Given the description of an element on the screen output the (x, y) to click on. 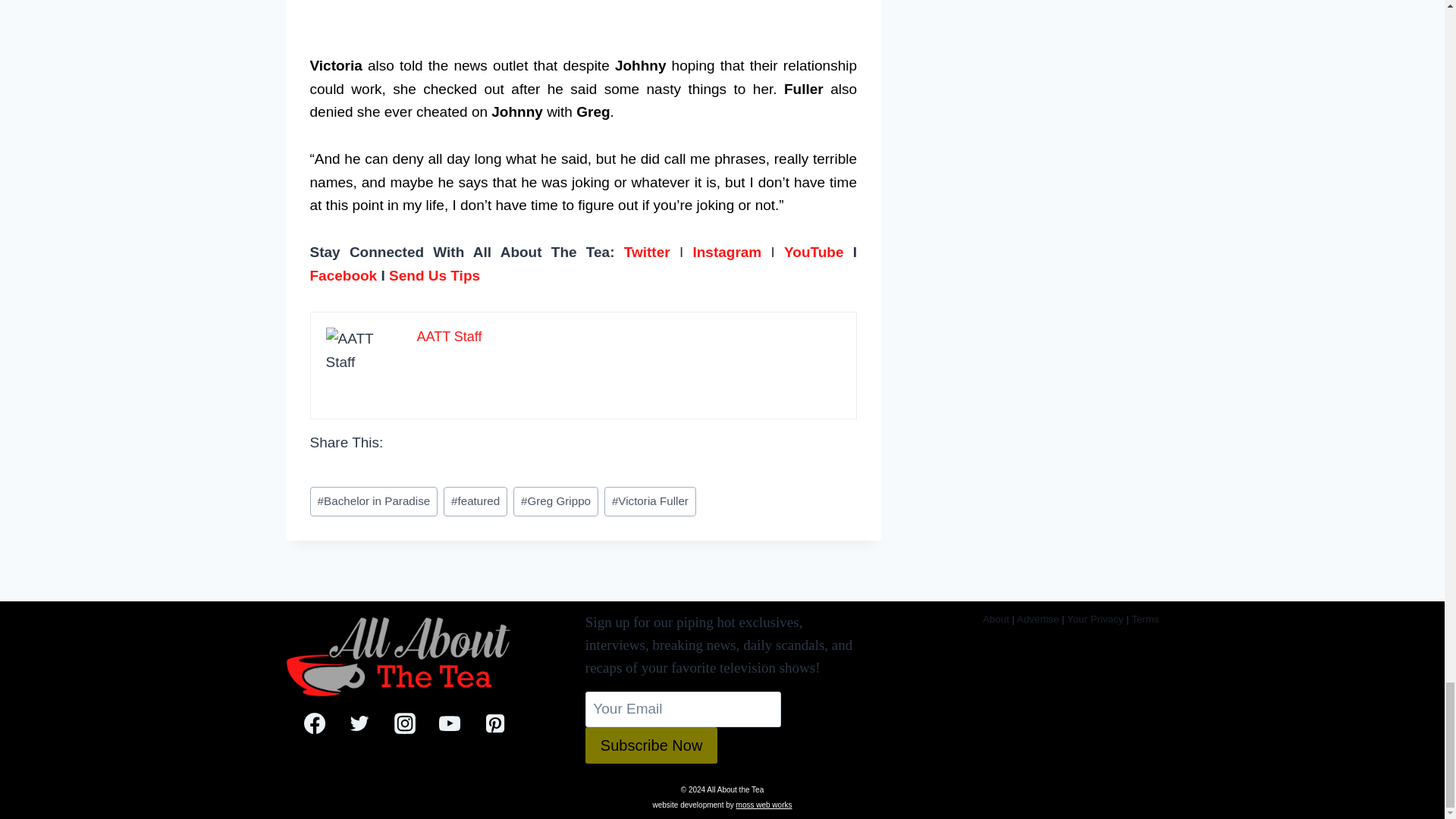
YouTube (813, 252)
Instagram (727, 252)
Facebook (342, 275)
Twitter (646, 252)
Send Us Tips (434, 275)
